Given the description of an element on the screen output the (x, y) to click on. 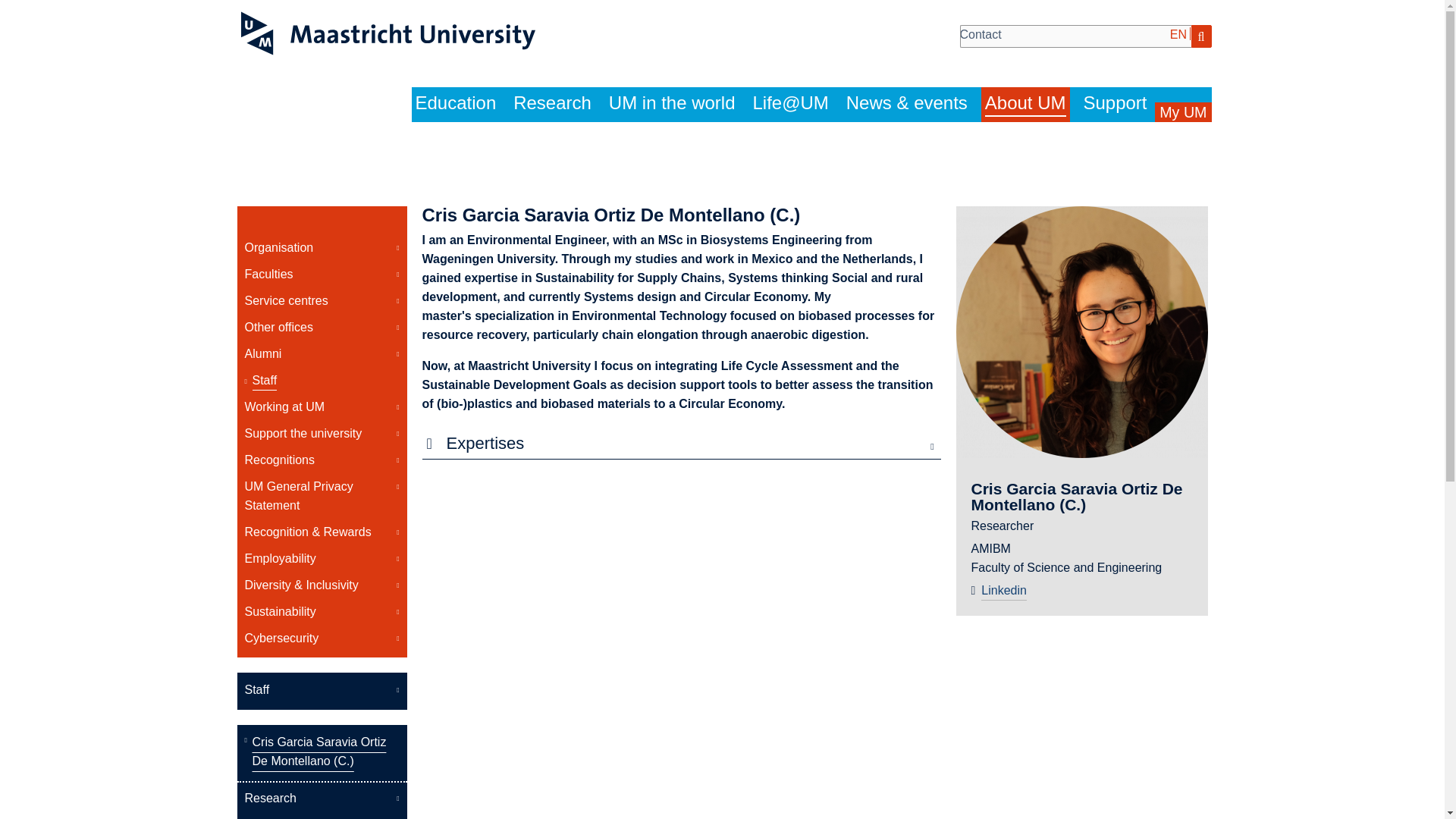
EN (1178, 33)
Research (552, 103)
Maastricht University Logo (388, 33)
Support (1115, 103)
Search (1201, 36)
About UM (1025, 104)
Maastricht University Logo (388, 36)
To the homepage (388, 36)
Search (1201, 36)
My UM (1182, 112)
Contact (980, 33)
Education (455, 103)
NL (1200, 33)
UM in the world (671, 103)
